Given the description of an element on the screen output the (x, y) to click on. 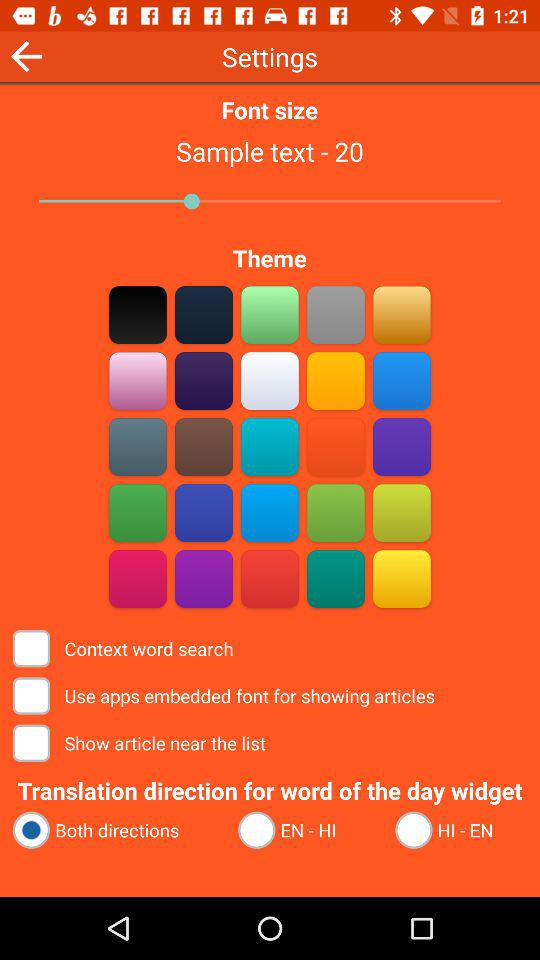
change color (203, 578)
